Given the description of an element on the screen output the (x, y) to click on. 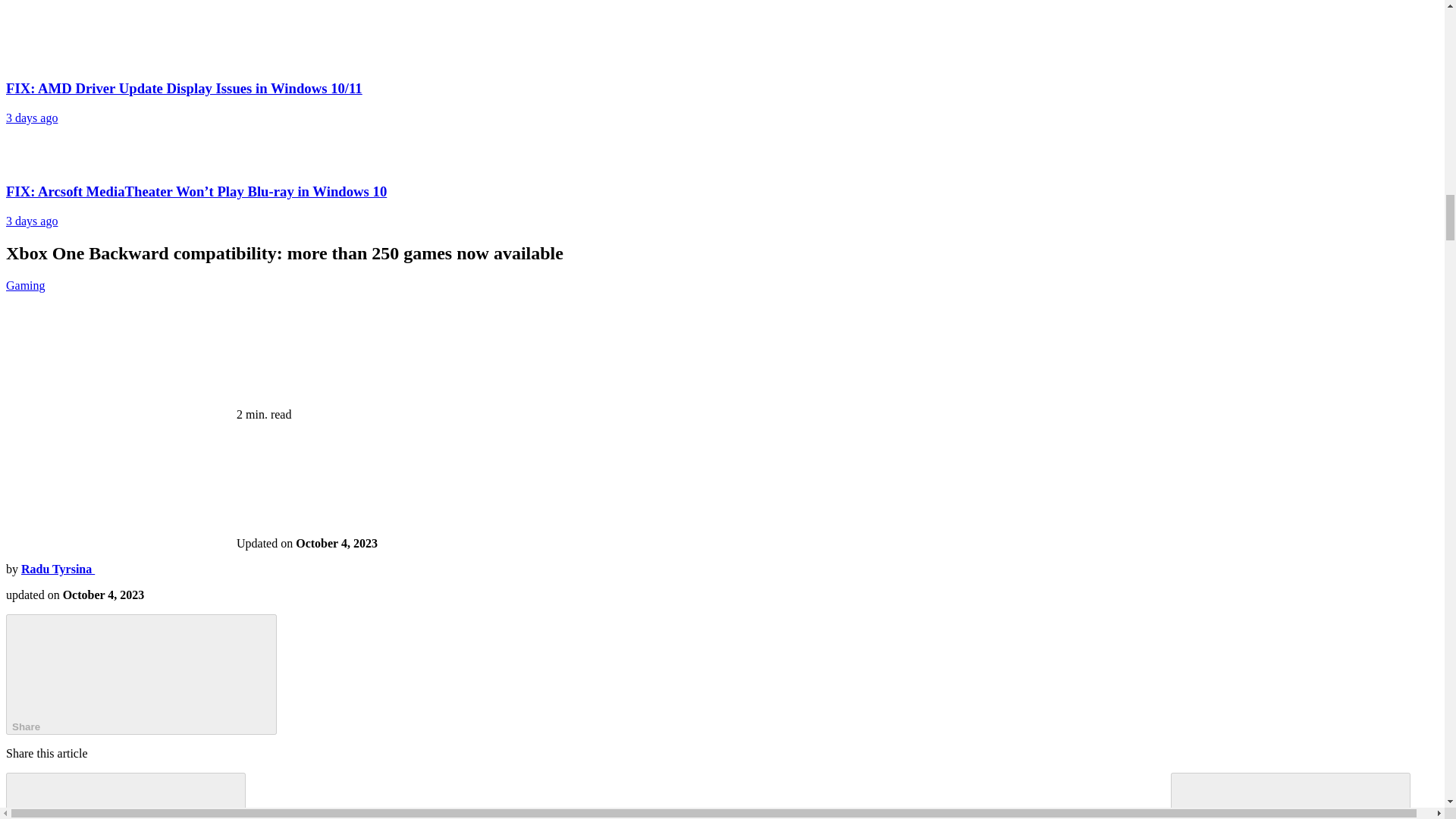
Share (140, 674)
Share this article (140, 674)
Published on September 17, 2016 (103, 594)
Gaming (25, 285)
Radu Tyrsina  (57, 568)
